Given the description of an element on the screen output the (x, y) to click on. 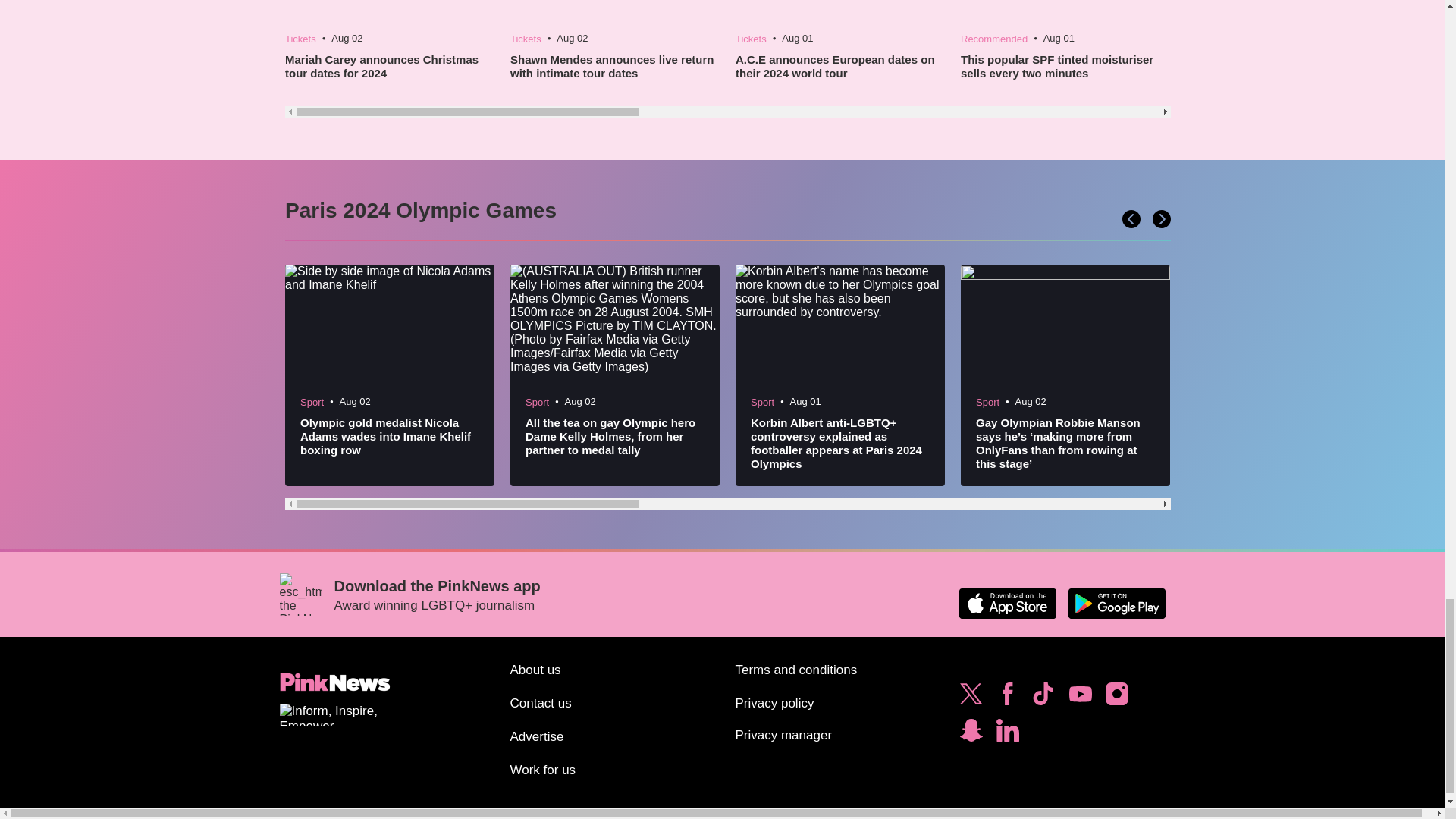
Follow PinkNews on Instagram (1116, 697)
Follow PinkNews on LinkedIn (1007, 733)
Subscribe to PinkNews on Snapchat (970, 733)
Download the PinkNews app on the Apple App Store (1006, 603)
Follow PinkNews on Twitter (970, 697)
Follow PinkNews on TikTok (1042, 697)
Subscribe to PinkNews on YouTube (1079, 697)
Download the PinkNews app on Google Play (1115, 603)
